Given the description of an element on the screen output the (x, y) to click on. 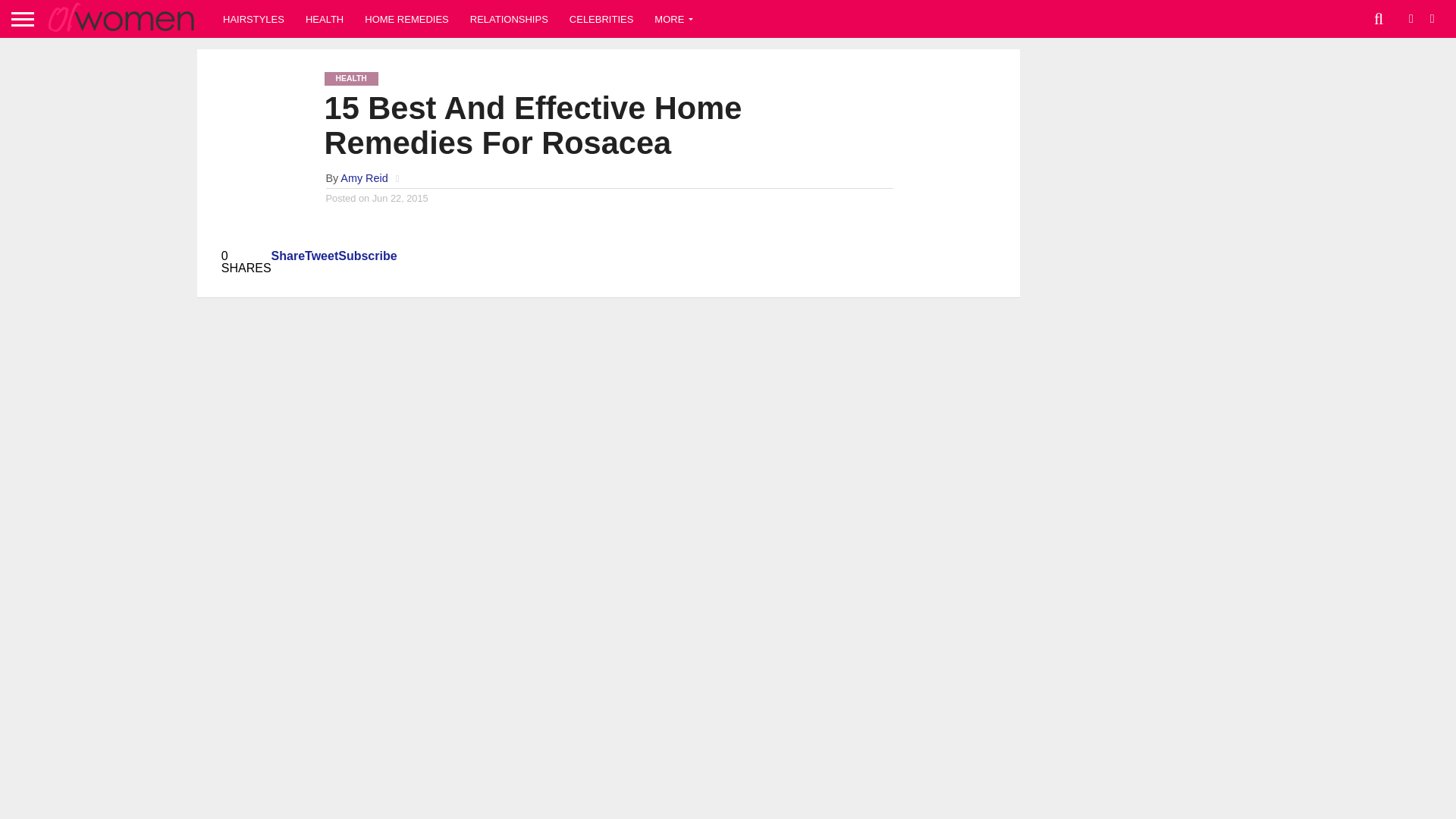
HAIRSTYLES (253, 18)
Posts by Amy Reid (363, 177)
